Given the description of an element on the screen output the (x, y) to click on. 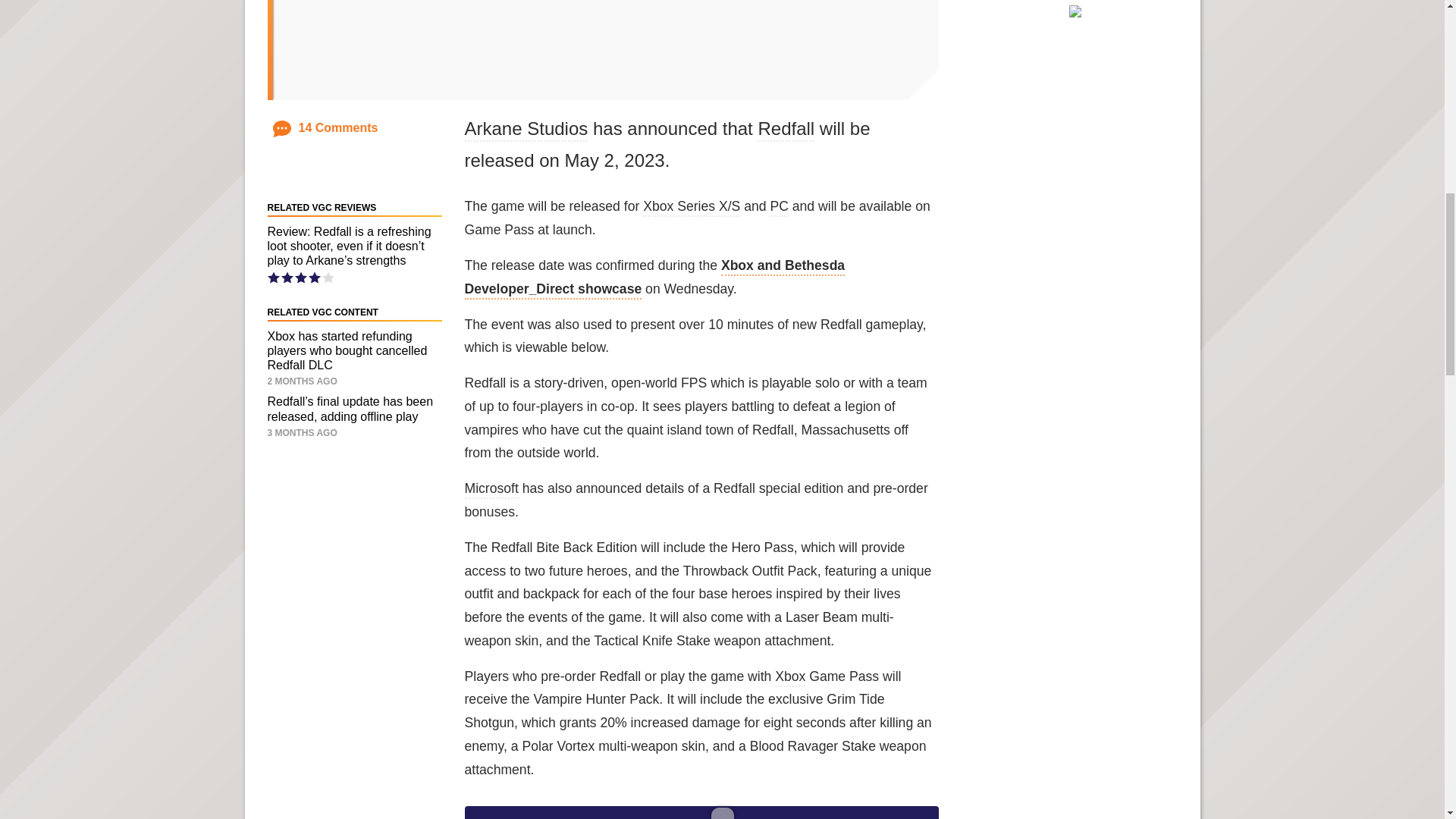
Xbox (789, 678)
Redfall (785, 129)
PC (778, 208)
Arkane Studios (526, 129)
Microsoft (491, 489)
